Given the description of an element on the screen output the (x, y) to click on. 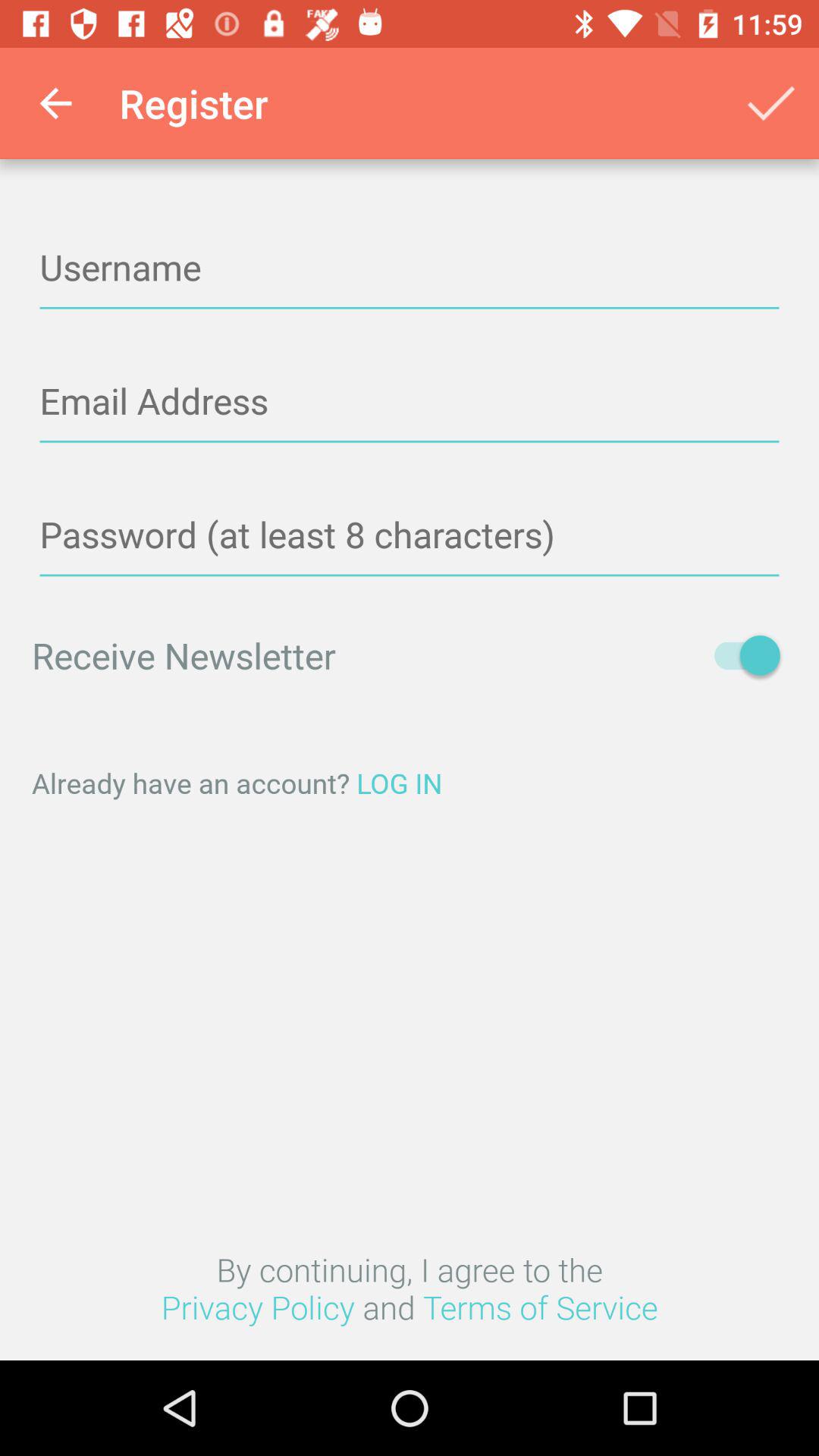
type in username (409, 268)
